Given the description of an element on the screen output the (x, y) to click on. 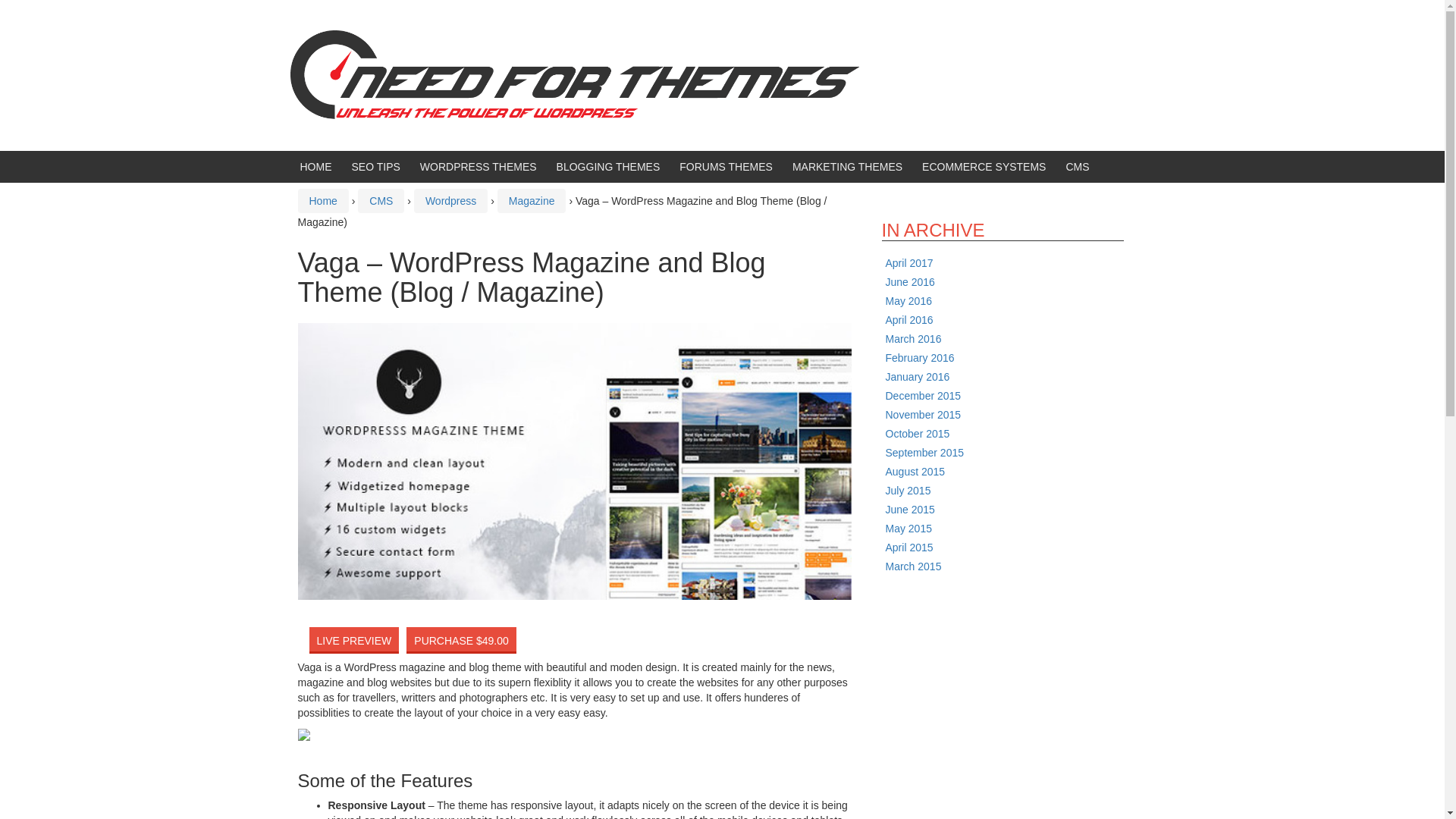
MARKETING THEMES (847, 166)
Need For Themes (574, 81)
BLOGGING THEMES (608, 166)
ECOMMERCE SYSTEMS (983, 166)
CMS (1077, 166)
WORDPRESS THEMES (478, 166)
HOME (315, 166)
SEO TIPS (376, 166)
FORUMS THEMES (726, 166)
